Given the description of an element on the screen output the (x, y) to click on. 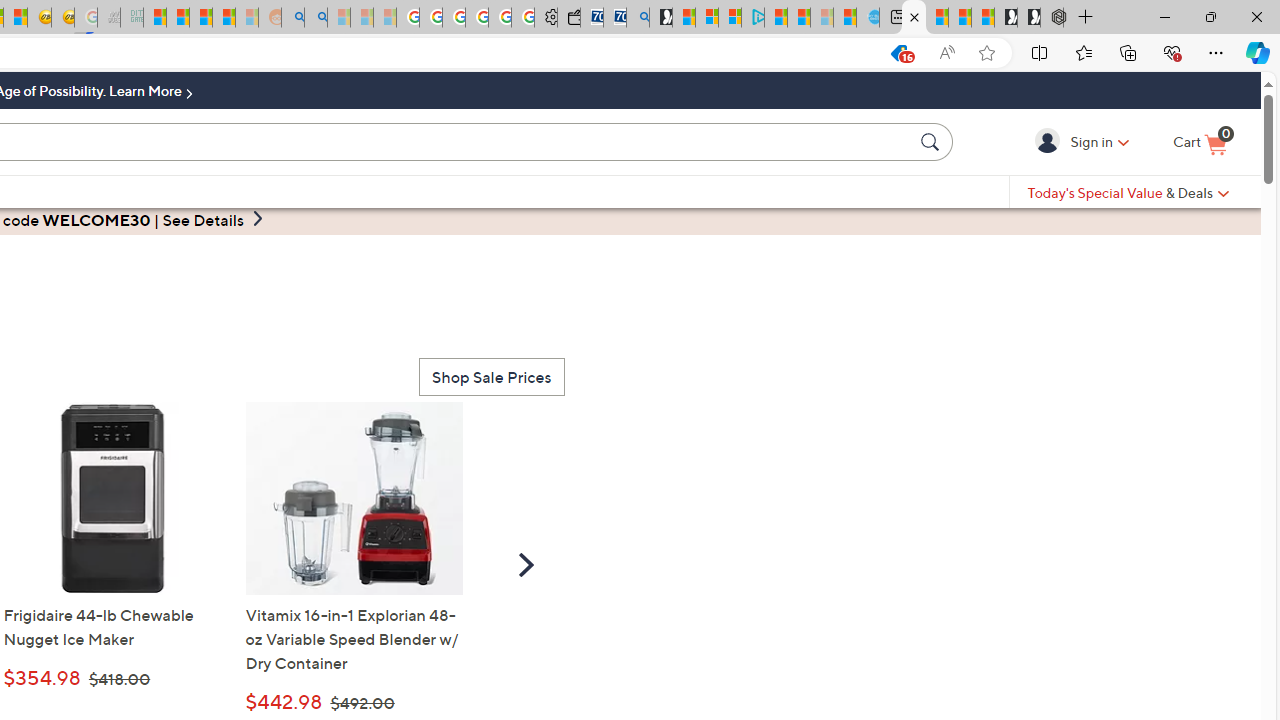
 Frigidaire 44-lb Chewable Nugget Ice Maker - K86274 (111, 498)
